Given the description of an element on the screen output the (x, y) to click on. 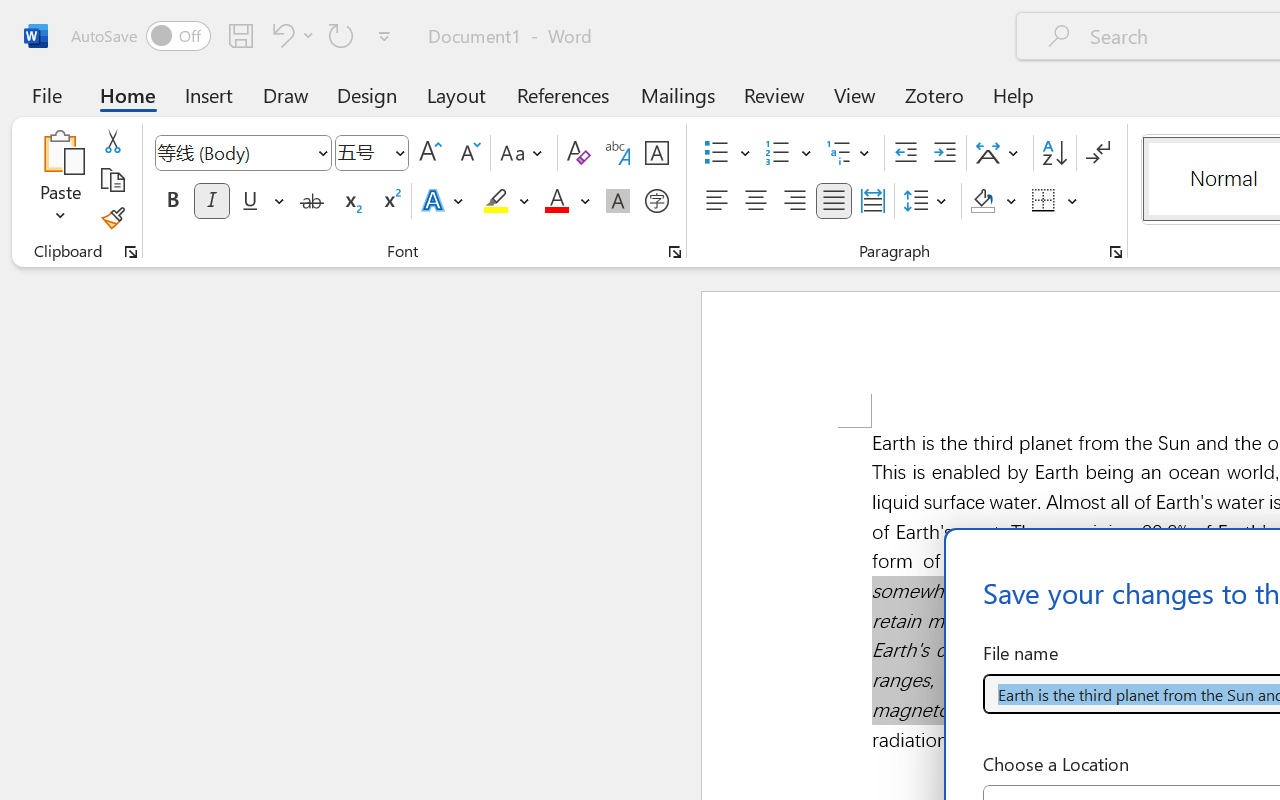
Asian Layout (1000, 153)
Office Clipboard... (131, 252)
Shrink Font (468, 153)
Character Border (656, 153)
Repeat Italic (341, 35)
Character Shading (618, 201)
Format Painter (112, 218)
Shading (993, 201)
Grow Font (430, 153)
